Given the description of an element on the screen output the (x, y) to click on. 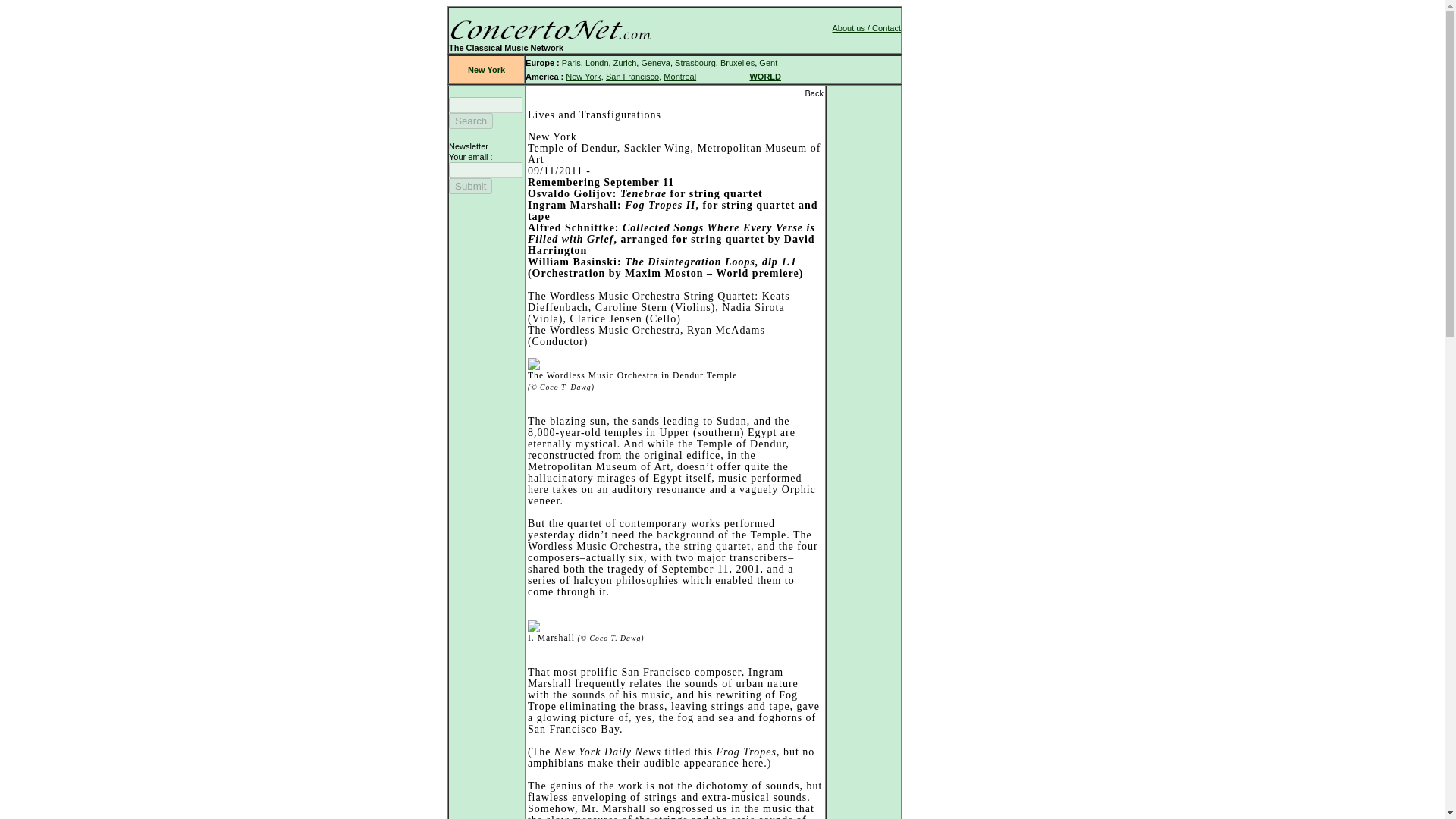
Submit (470, 186)
WORLD (764, 76)
New York (486, 69)
Search (470, 120)
New York (582, 76)
Paris (571, 62)
Londn (596, 62)
Geneva (654, 62)
Zurich (624, 62)
Strasbourg (695, 62)
Bruxelles (737, 62)
Back (814, 92)
Montreal (679, 76)
Gent (767, 62)
San Francisco (632, 76)
